Given the description of an element on the screen output the (x, y) to click on. 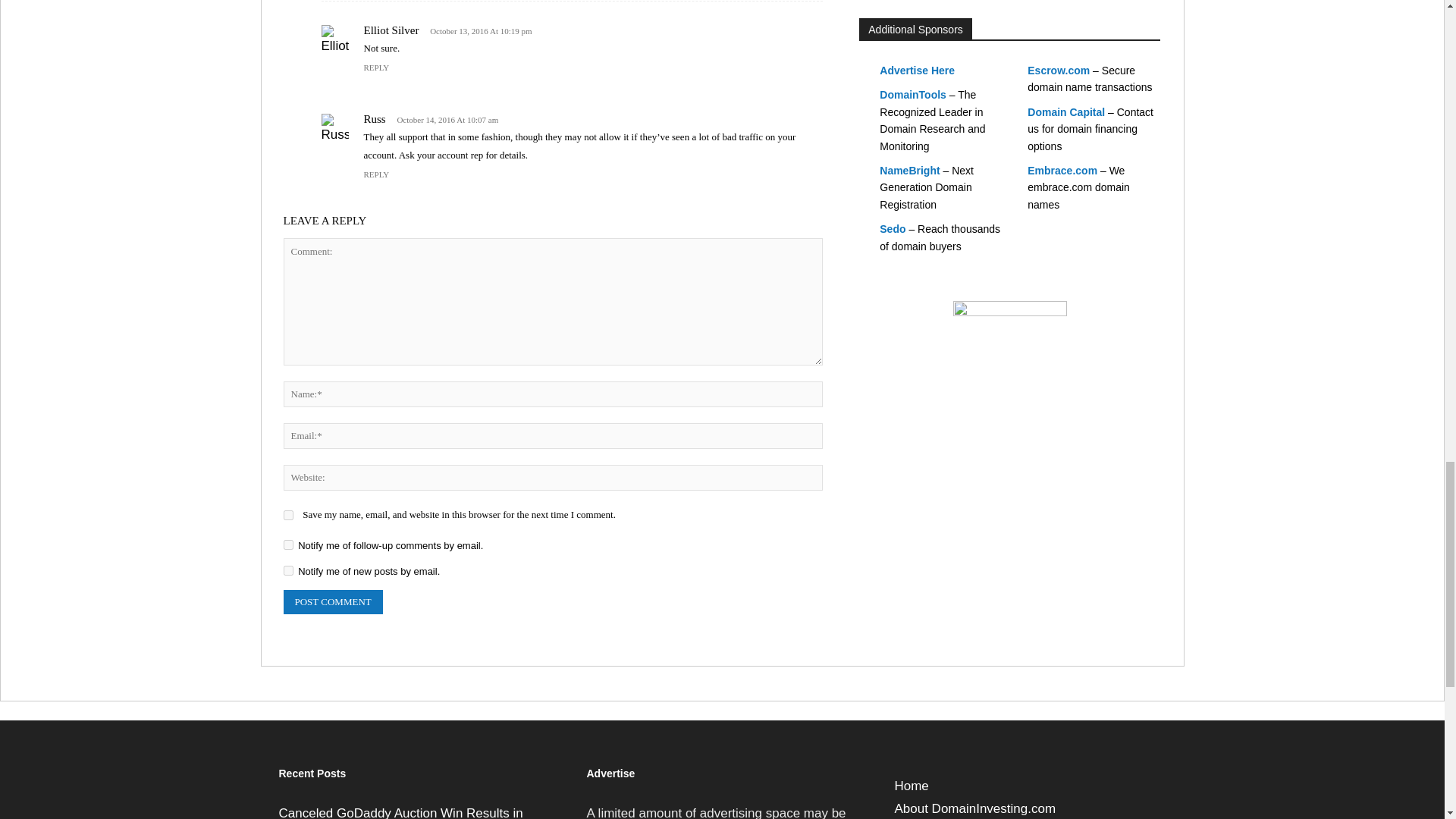
subscribe (288, 570)
Post Comment (332, 601)
subscribe (288, 544)
yes (288, 515)
